Given the description of an element on the screen output the (x, y) to click on. 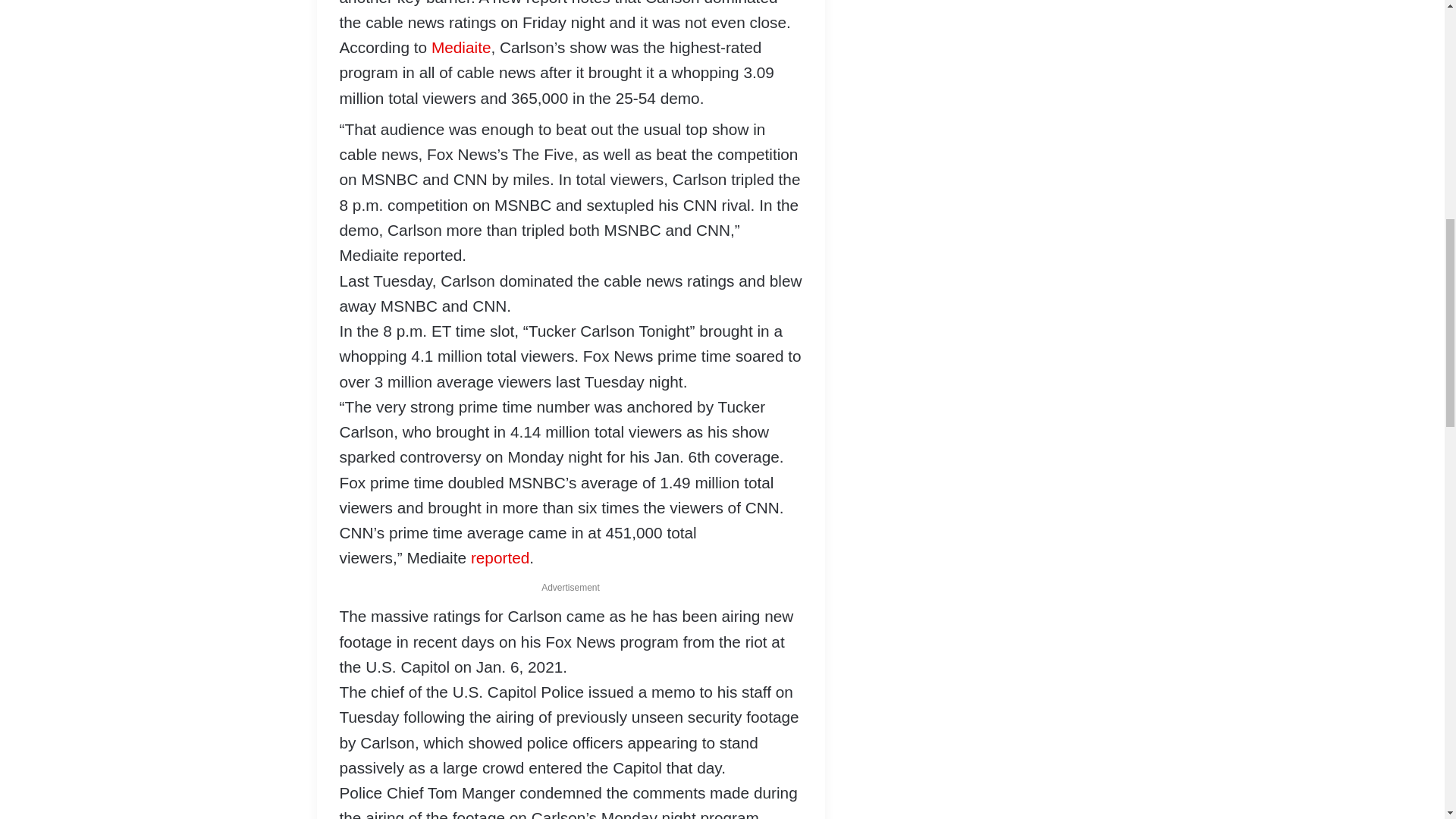
reported (499, 557)
Mediaite (461, 47)
